Given the description of an element on the screen output the (x, y) to click on. 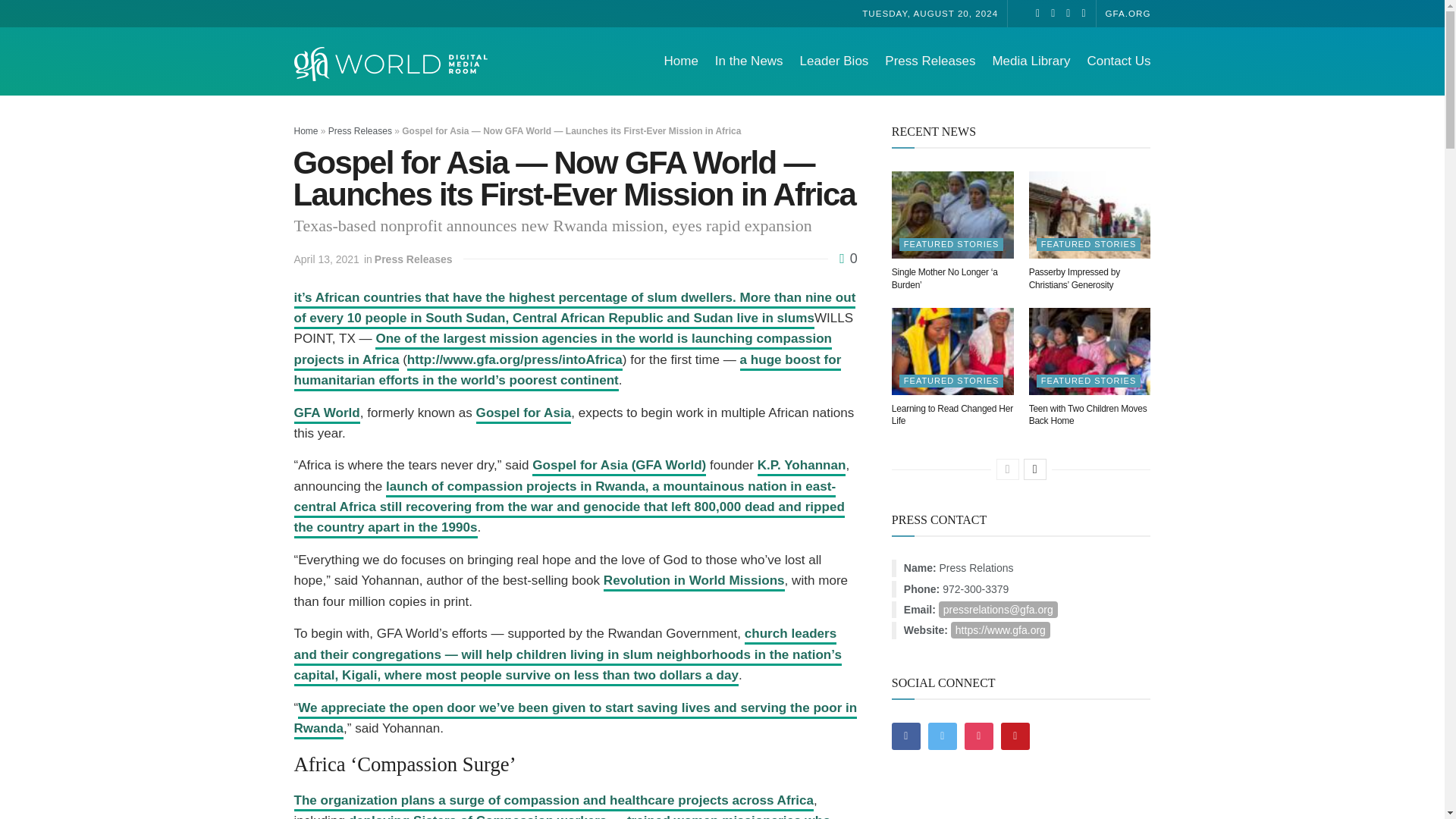
April 13, 2021 (326, 259)
Press Releases (930, 61)
Leader Bios (834, 61)
Press Releases (360, 131)
GFA.ORG (1128, 13)
GFA World (326, 413)
Press Releases (413, 259)
0 (848, 258)
Home (680, 61)
